Given the description of an element on the screen output the (x, y) to click on. 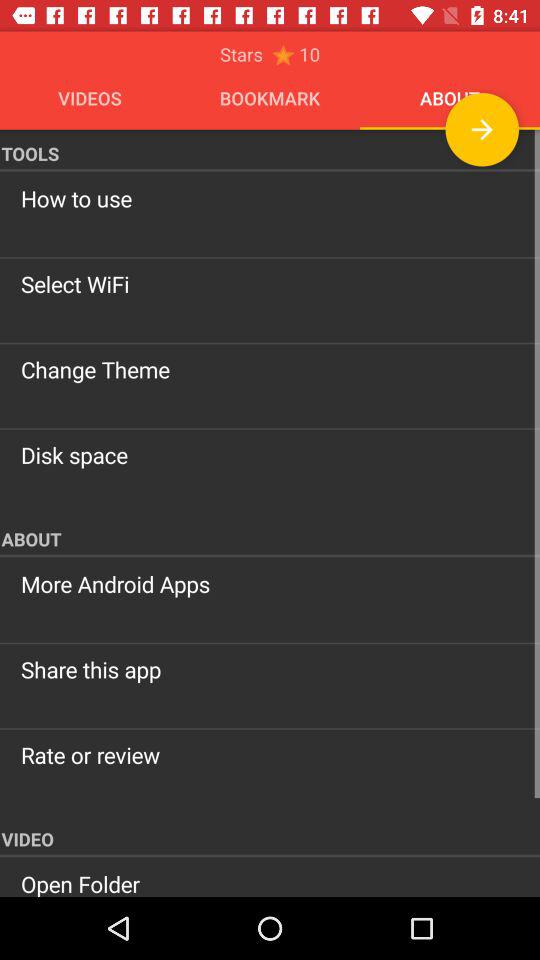
launch icon below video icon (270, 882)
